Given the description of an element on the screen output the (x, y) to click on. 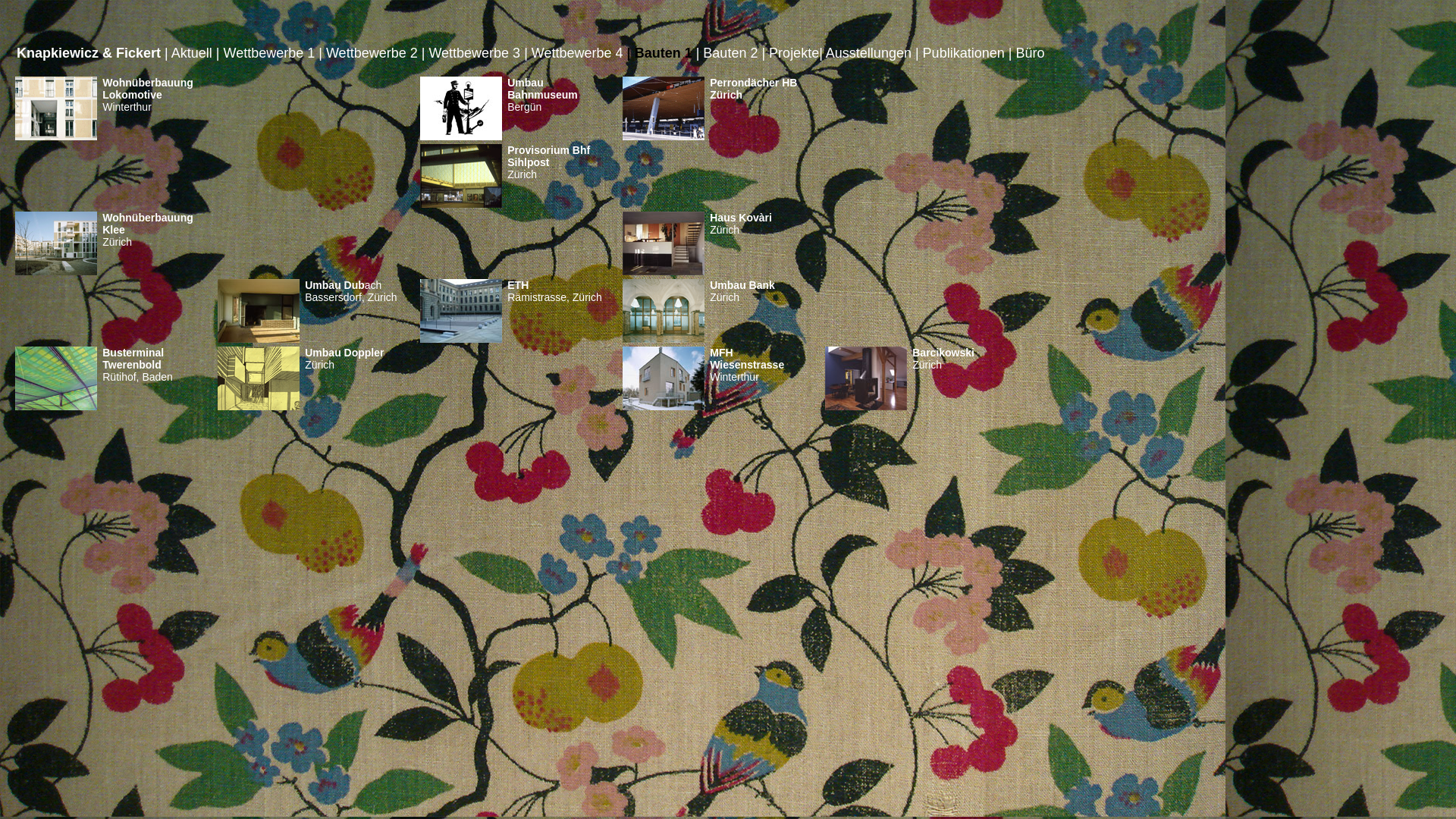
| Ausstellungen Element type: text (865, 52)
| Aktuell Element type: text (188, 52)
| Bauten 2 Element type: text (727, 52)
Knapkiewicz & Fickert Element type: text (88, 52)
| Wettbewerbe 4 Element type: text (573, 52)
| Bauten 1 Element type: text (659, 52)
| Wettbewerbe 3 Element type: text (470, 52)
| Wettbewerbe 1 Element type: text (265, 52)
| Publikationen Element type: text (959, 52)
| Wettbewerbe 2 Element type: text (367, 52)
| Projekte Element type: text (790, 52)
